Given the description of an element on the screen output the (x, y) to click on. 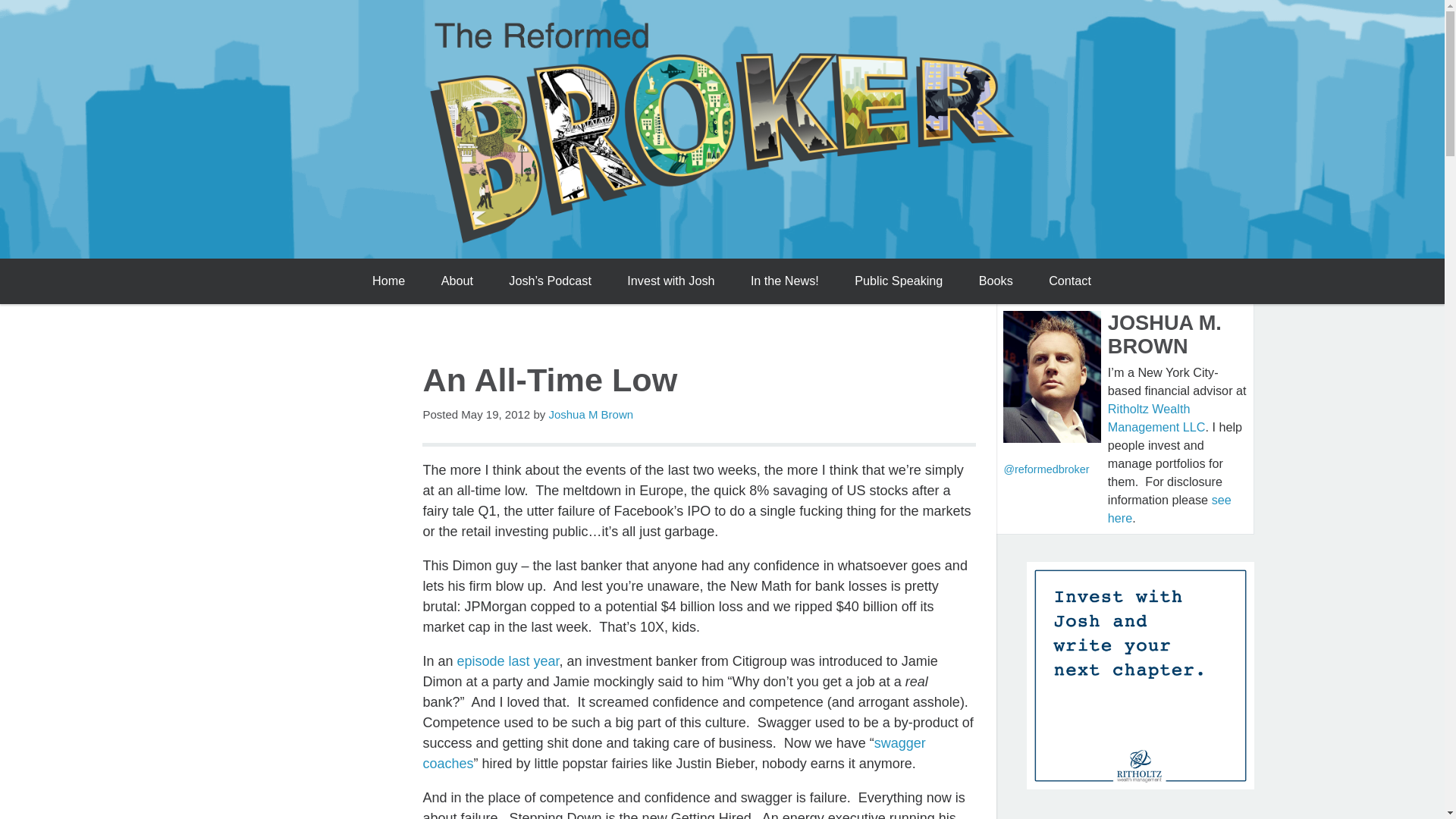
Invest with Josh (670, 280)
Home (388, 280)
swagger coaches (673, 753)
Books (995, 280)
In the News! (784, 280)
Joshua M Brown (590, 413)
Public Speaking (899, 280)
Contact (1069, 280)
About (456, 280)
episode last year (508, 661)
Posts by Joshua M Brown (590, 413)
